Given the description of an element on the screen output the (x, y) to click on. 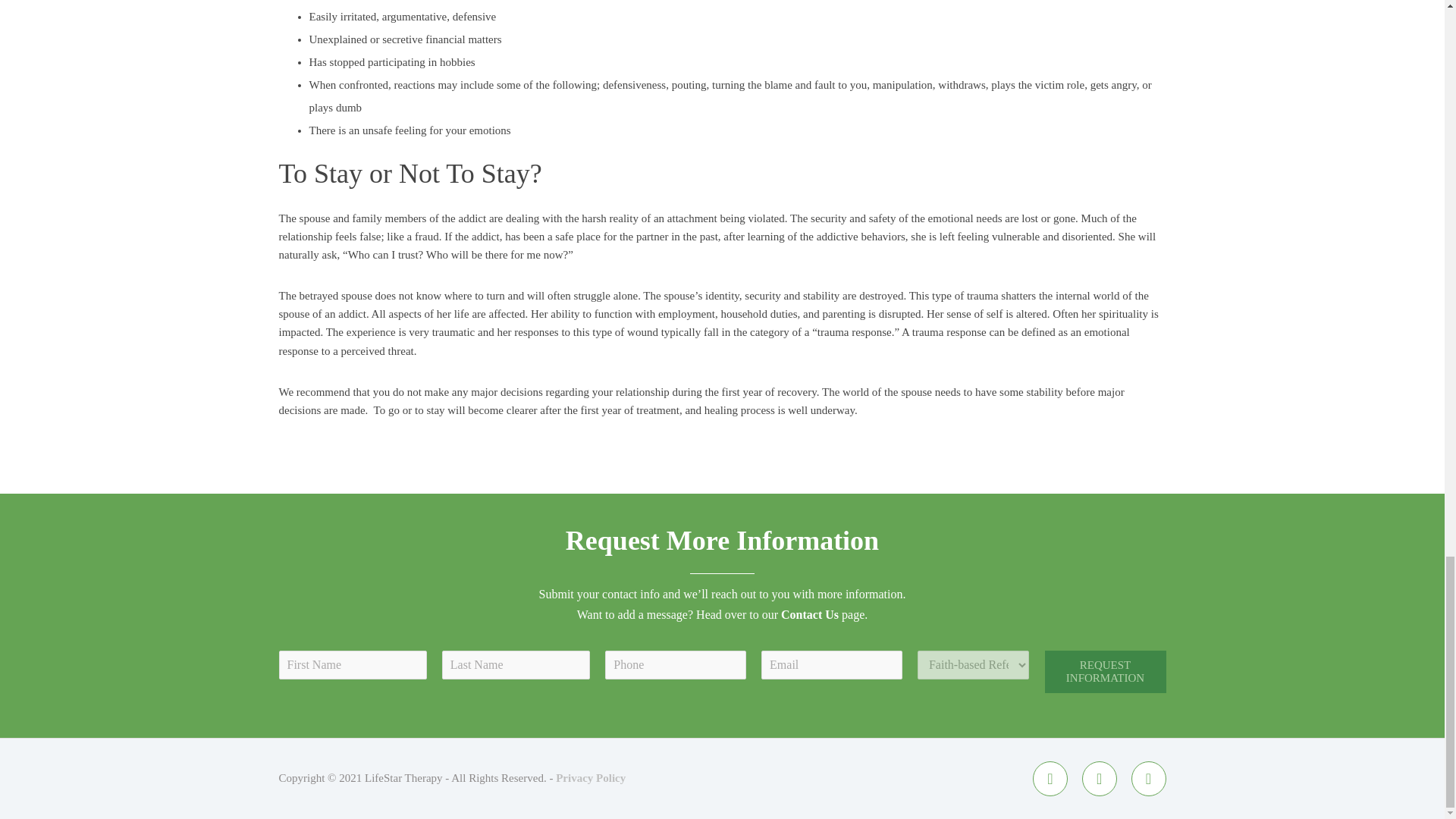
REQUEST INFORMATION (1105, 671)
Privacy Policy (591, 777)
Contact Us (809, 614)
